Given the description of an element on the screen output the (x, y) to click on. 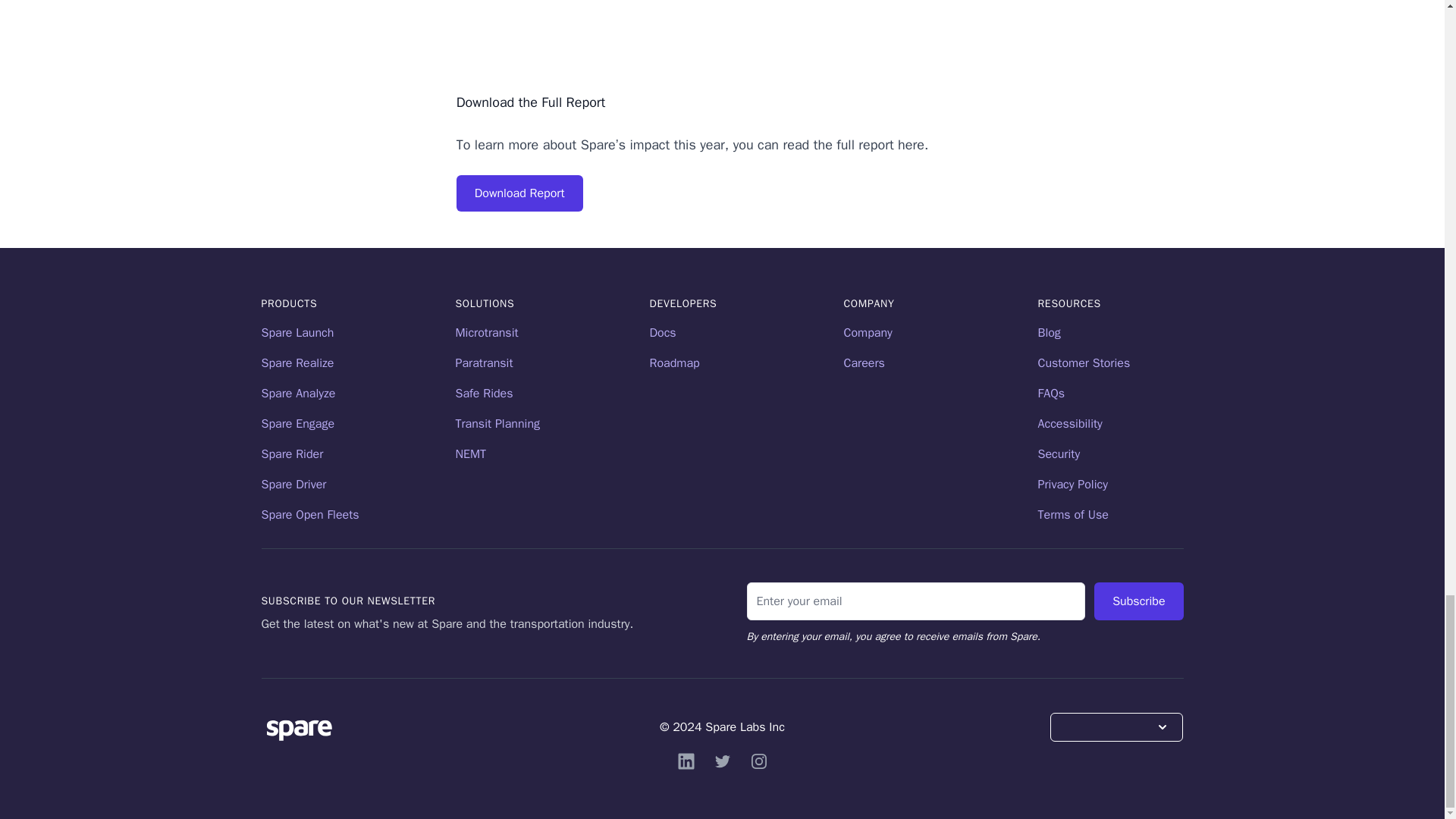
Security (1058, 453)
Company (867, 332)
Spare Realize (296, 363)
Blog (1047, 332)
Spare Rider (291, 453)
Spare Labs Linkedin profile (685, 761)
NEMT (470, 453)
Transit Planning (497, 423)
Spare Launch (296, 332)
Accessibility (1069, 423)
